Given the description of an element on the screen output the (x, y) to click on. 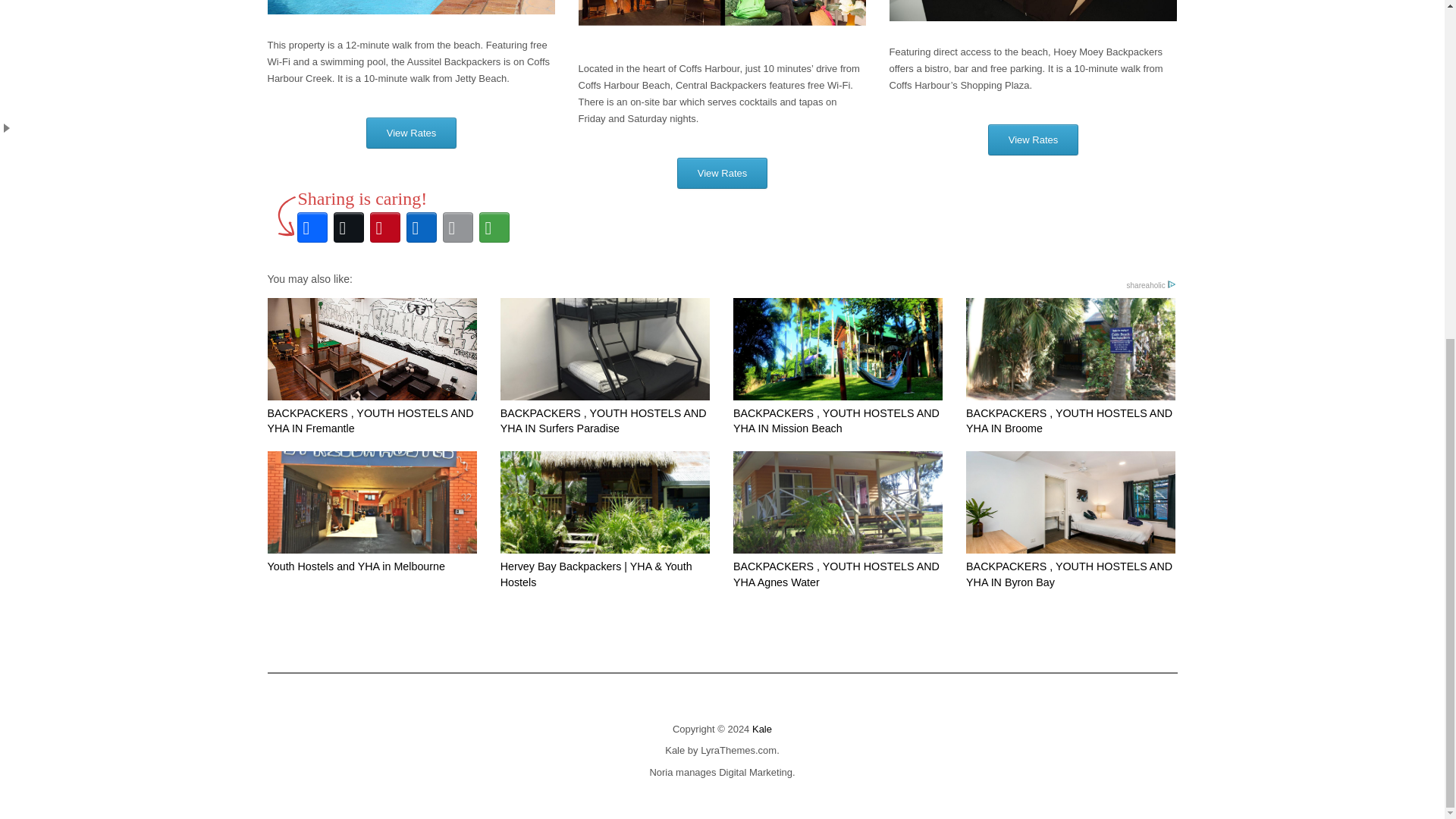
Hoey Moey Backpackers (1032, 10)
Email This (457, 227)
BACKPACKERS , YOUTH HOSTELS AND YHA IN Surfers Paradise (605, 366)
Central Backpackers (722, 18)
Aussitel Backpackers (410, 6)
Facebook (312, 227)
BACKPACKERS , YOUTH HOSTELS AND YHA IN Fremantle (371, 366)
Pinterest (384, 227)
More Options (494, 227)
LinkedIn (421, 227)
